Given the description of an element on the screen output the (x, y) to click on. 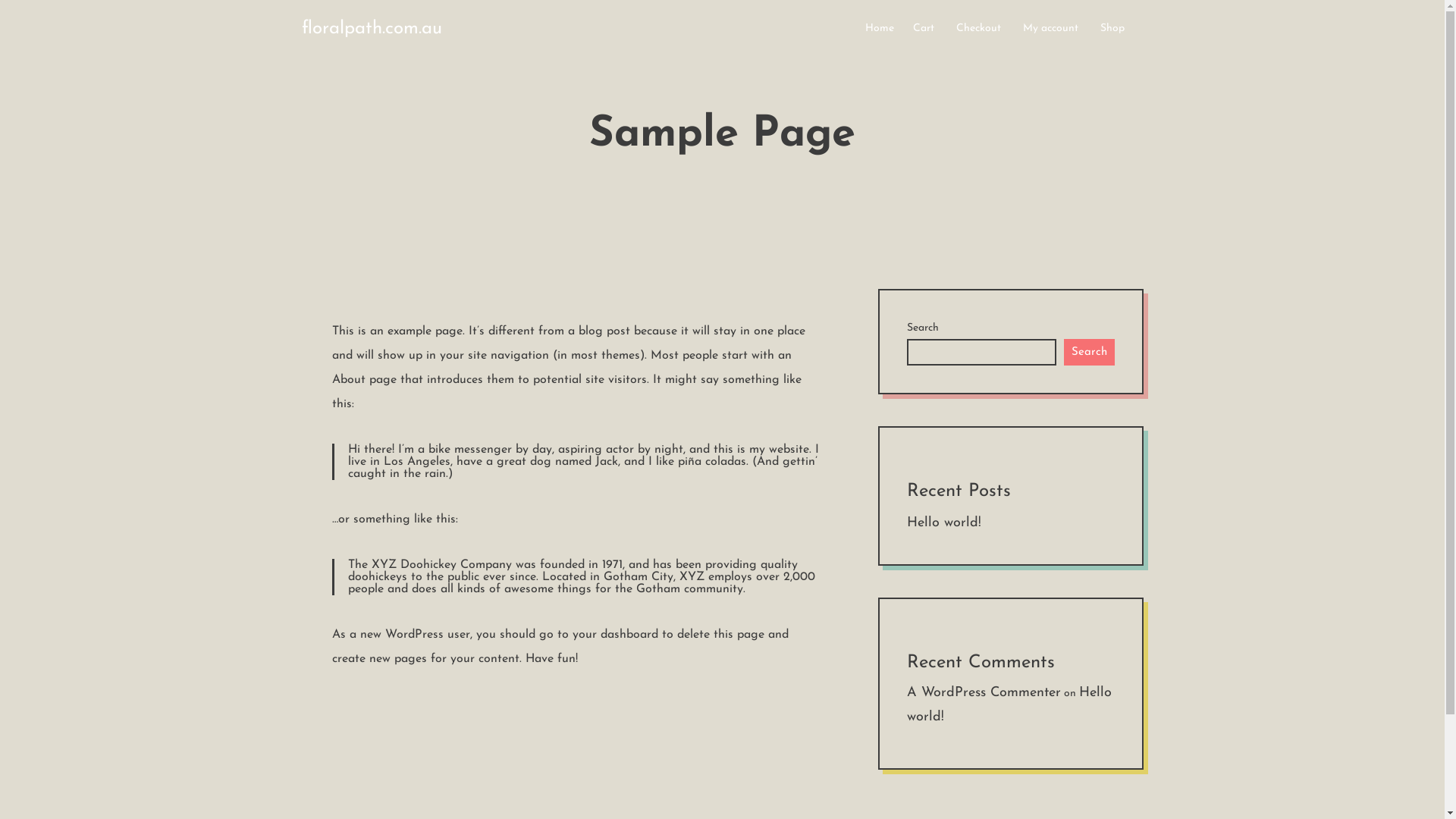
Cart Element type: text (923, 28)
My account Element type: text (1049, 28)
Home Element type: text (878, 28)
A WordPress Commenter Element type: text (983, 692)
Search Element type: text (1088, 351)
Hello world! Element type: text (943, 522)
your dashboard Element type: text (614, 634)
floralpath.com.au Element type: text (371, 28)
Checkout Element type: text (977, 28)
Hello world! Element type: text (1008, 704)
Shop Element type: text (1111, 28)
